Given the description of an element on the screen output the (x, y) to click on. 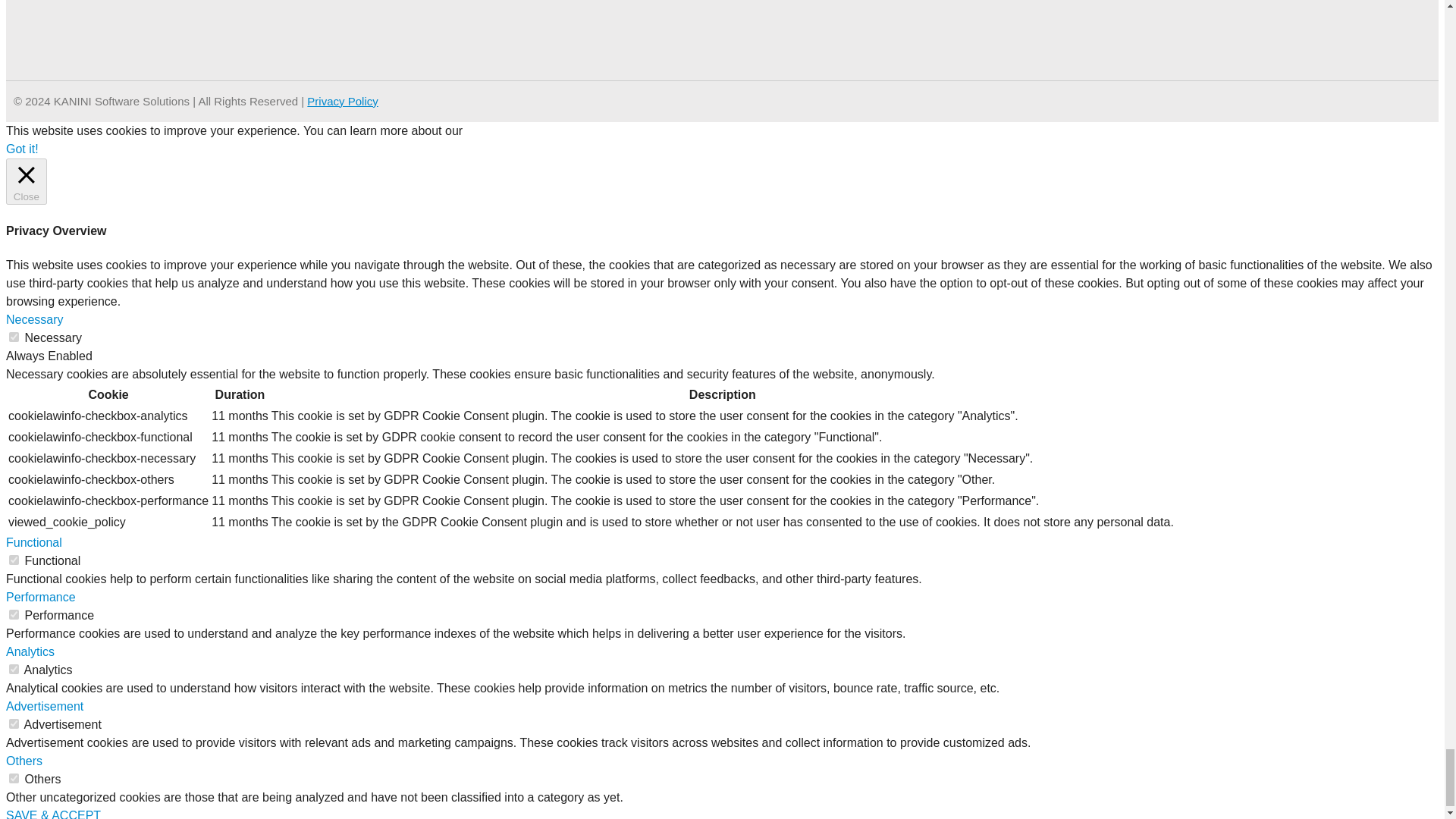
on (13, 614)
on (13, 669)
on (13, 560)
on (13, 337)
on (13, 723)
on (13, 777)
